Given the description of an element on the screen output the (x, y) to click on. 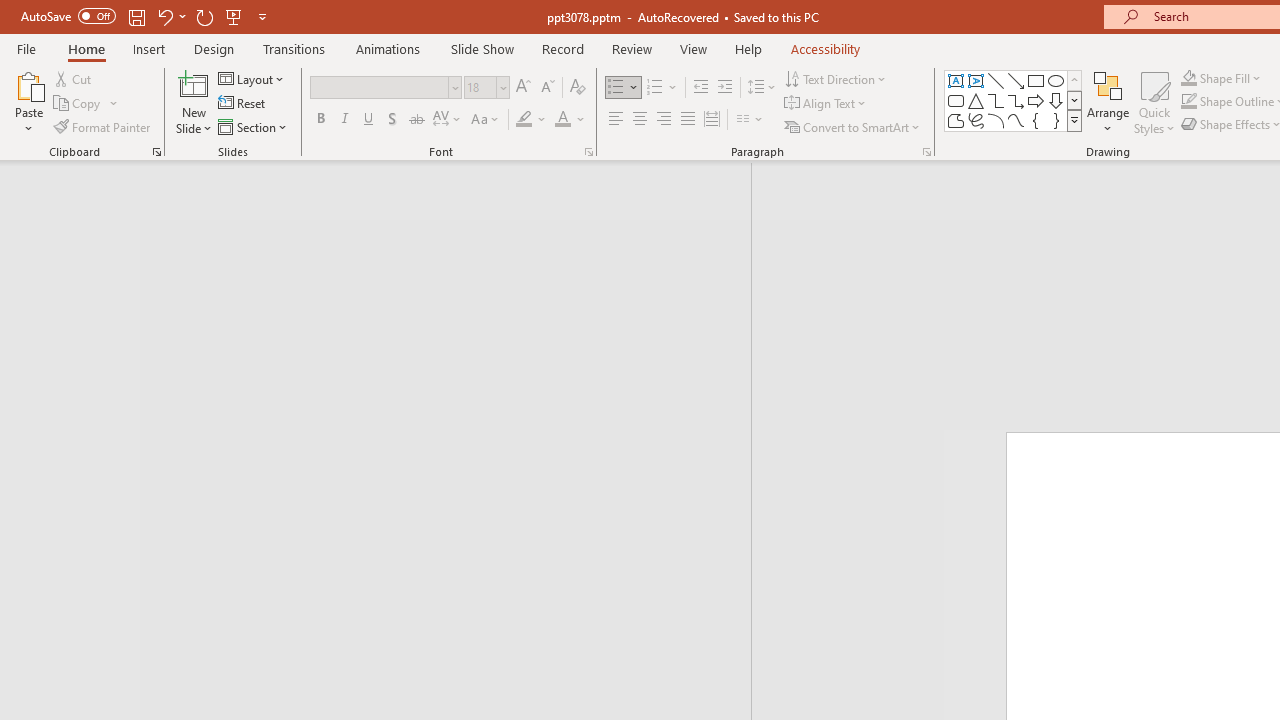
Line (995, 80)
Oval (1055, 80)
Isosceles Triangle (975, 100)
Rectangle (1035, 80)
Section (254, 126)
Font Size (486, 87)
Font (385, 87)
Increase Indent (725, 87)
Text Highlight Color (531, 119)
Open (502, 87)
Bold (320, 119)
Office Clipboard... (156, 151)
Copy (85, 103)
Customize Quick Access Toolbar (262, 15)
Character Spacing (447, 119)
